Given the description of an element on the screen output the (x, y) to click on. 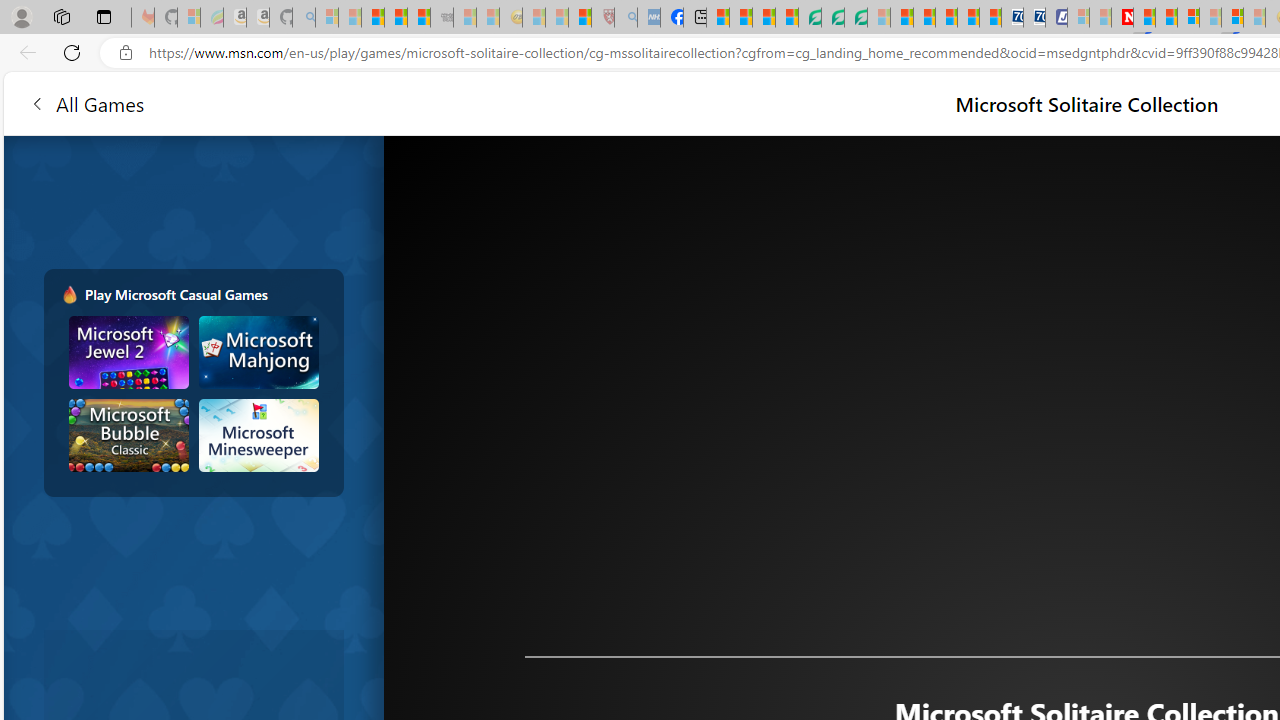
Microsoft Bubble Classic (129, 435)
All Games (380, 102)
Terms of Use Agreement (832, 17)
LendingTree - Compare Lenders (809, 17)
